Given the description of an element on the screen output the (x, y) to click on. 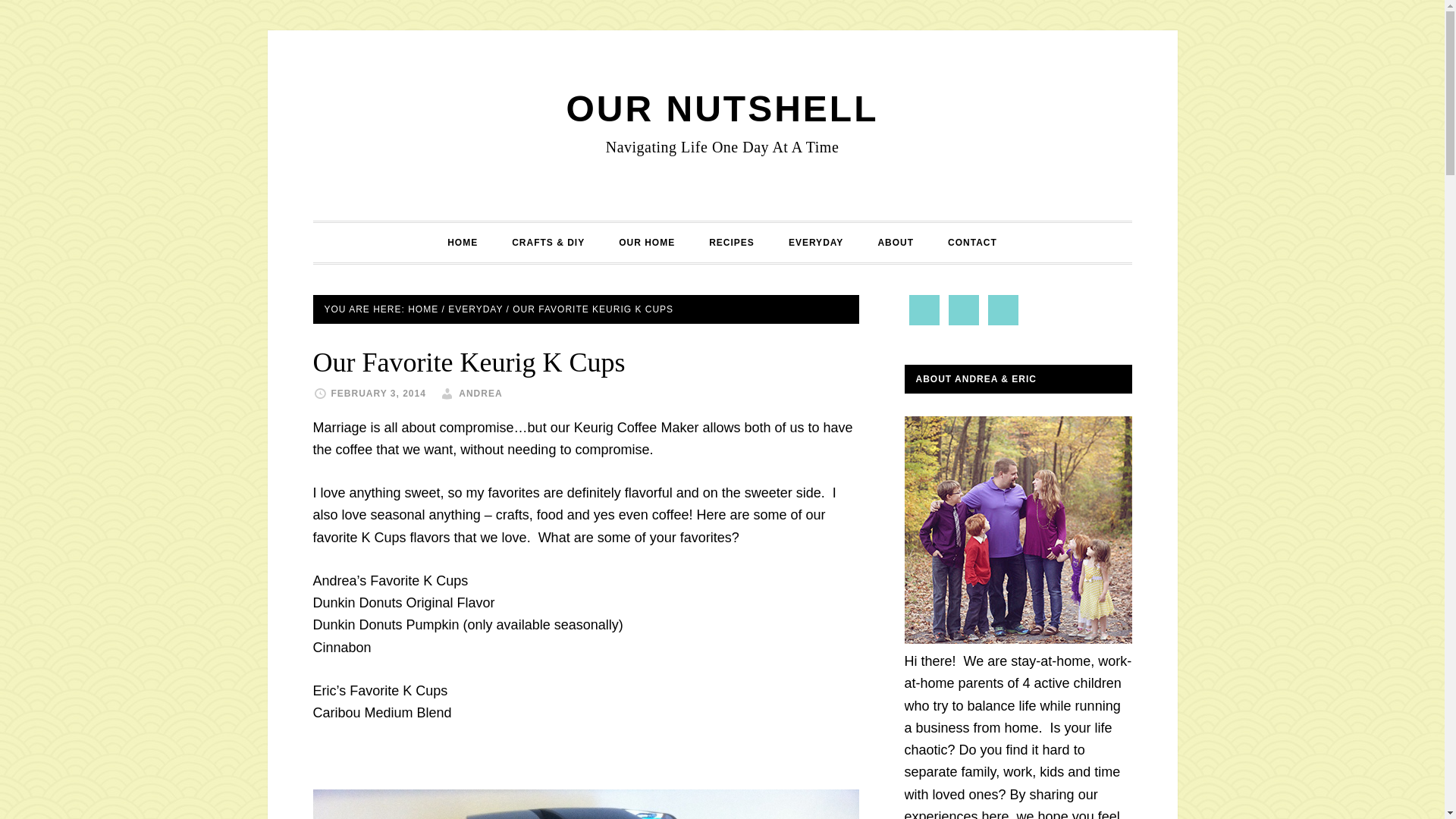
EVERYDAY (816, 242)
OUR HOME (647, 242)
OUR NUTSHELL (721, 108)
ANDREA (480, 393)
EVERYDAY (475, 308)
HOME (462, 242)
RECIPES (732, 242)
HOME (422, 308)
ABOUT (894, 242)
CONTACT (972, 242)
